Given the description of an element on the screen output the (x, y) to click on. 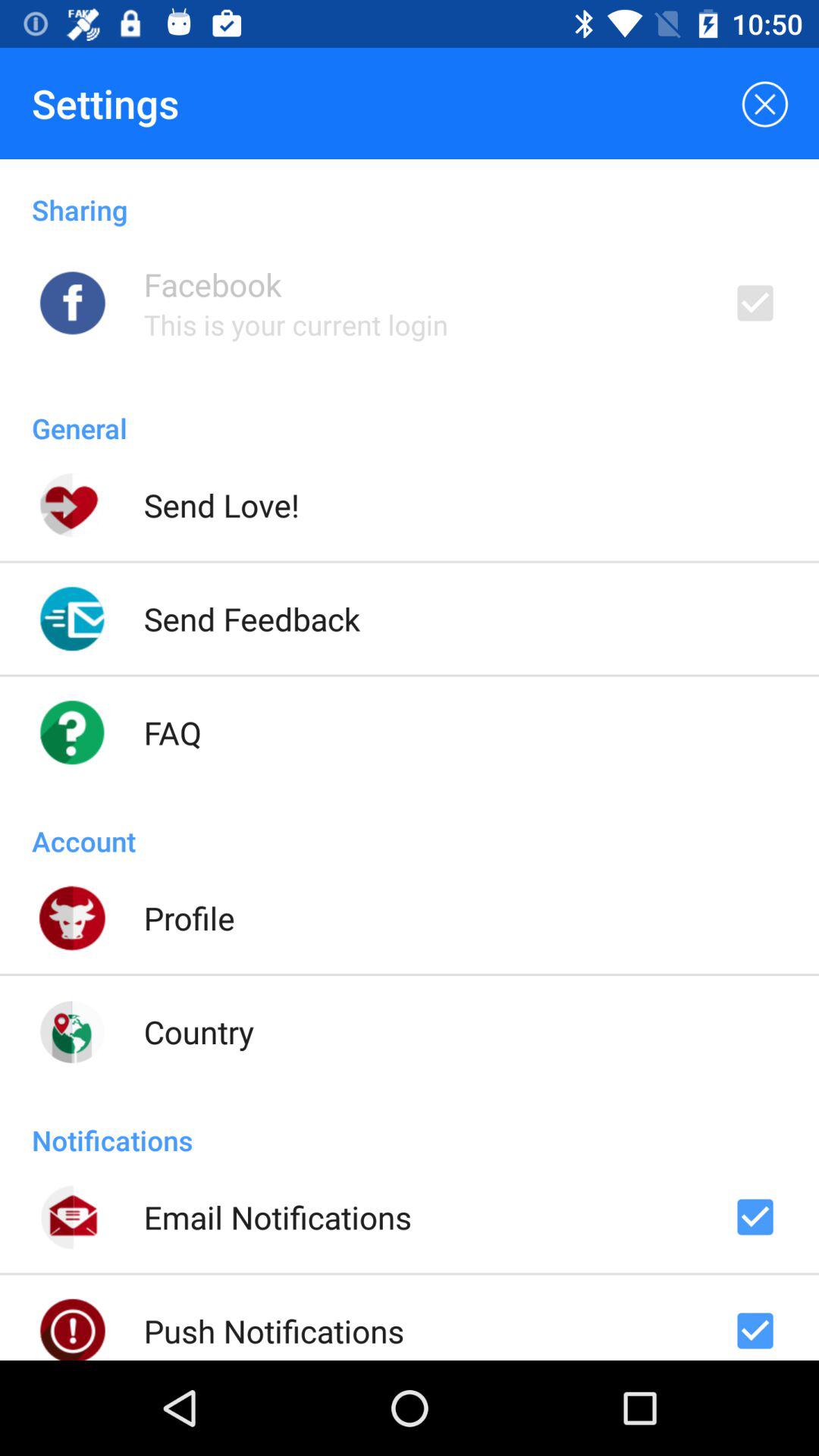
jump to the profile item (188, 917)
